Given the description of an element on the screen output the (x, y) to click on. 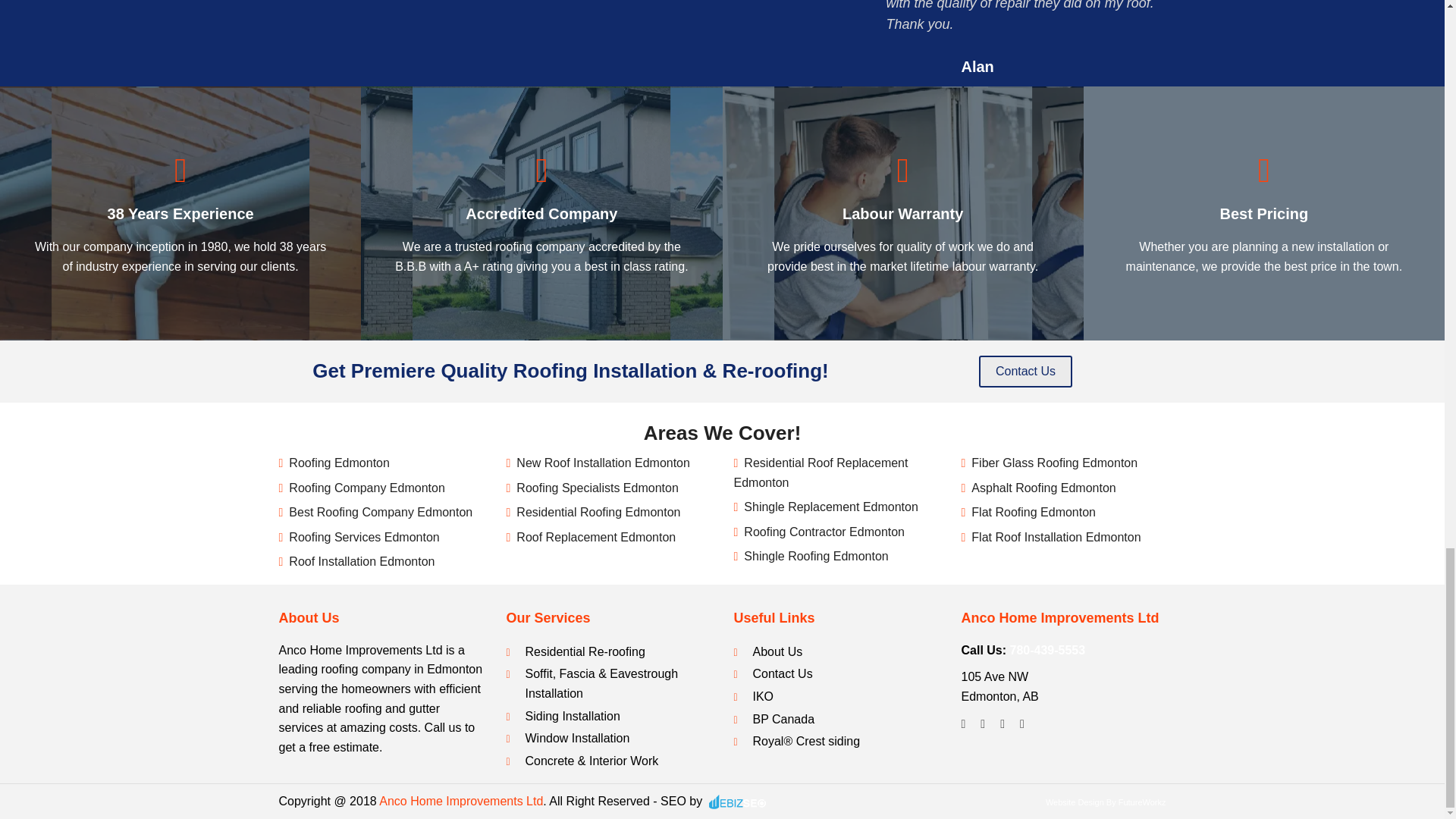
Contact Us (1024, 371)
Roofing Edmonton (339, 462)
Google Plus (1001, 723)
Twitter (982, 723)
Roof Replacement Edmonton (595, 536)
New Roof Installation Edmonton (603, 462)
Best Roofing Company Edmonton (379, 512)
Residential Roofing Edmonton (597, 512)
Roofing Company Edmonton (366, 487)
Roofing Specialists Edmonton (597, 487)
